Given the description of an element on the screen output the (x, y) to click on. 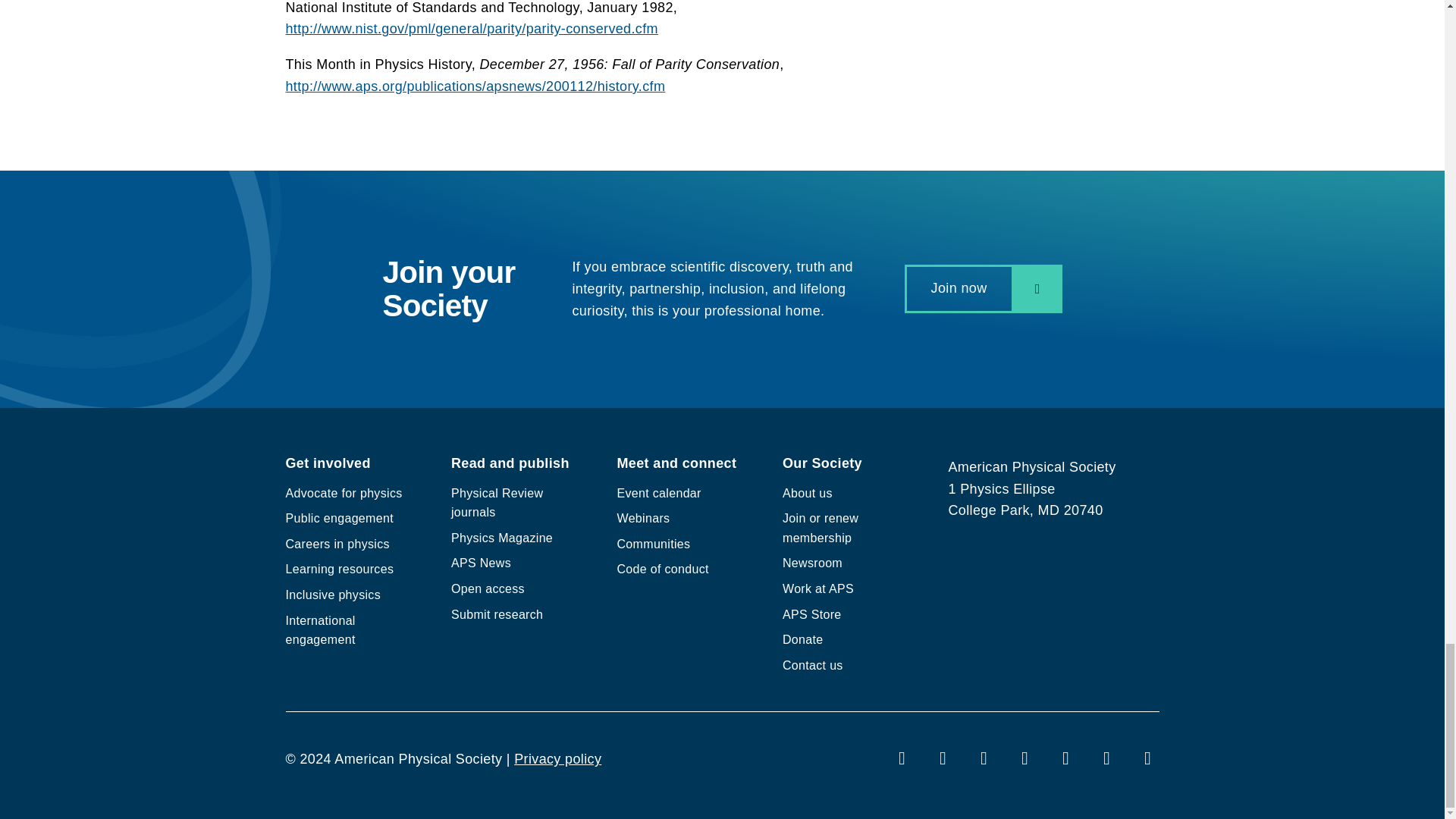
Public engagement (339, 517)
Learning resources (339, 568)
Inclusive physics (332, 594)
Physical Review journals (497, 502)
Careers in physics (336, 543)
Submit research (497, 614)
APS News (481, 562)
Open access (487, 588)
Join now (983, 287)
International engagement (320, 630)
Advocate for physics (343, 492)
Physics Magazine (502, 537)
